Given the description of an element on the screen output the (x, y) to click on. 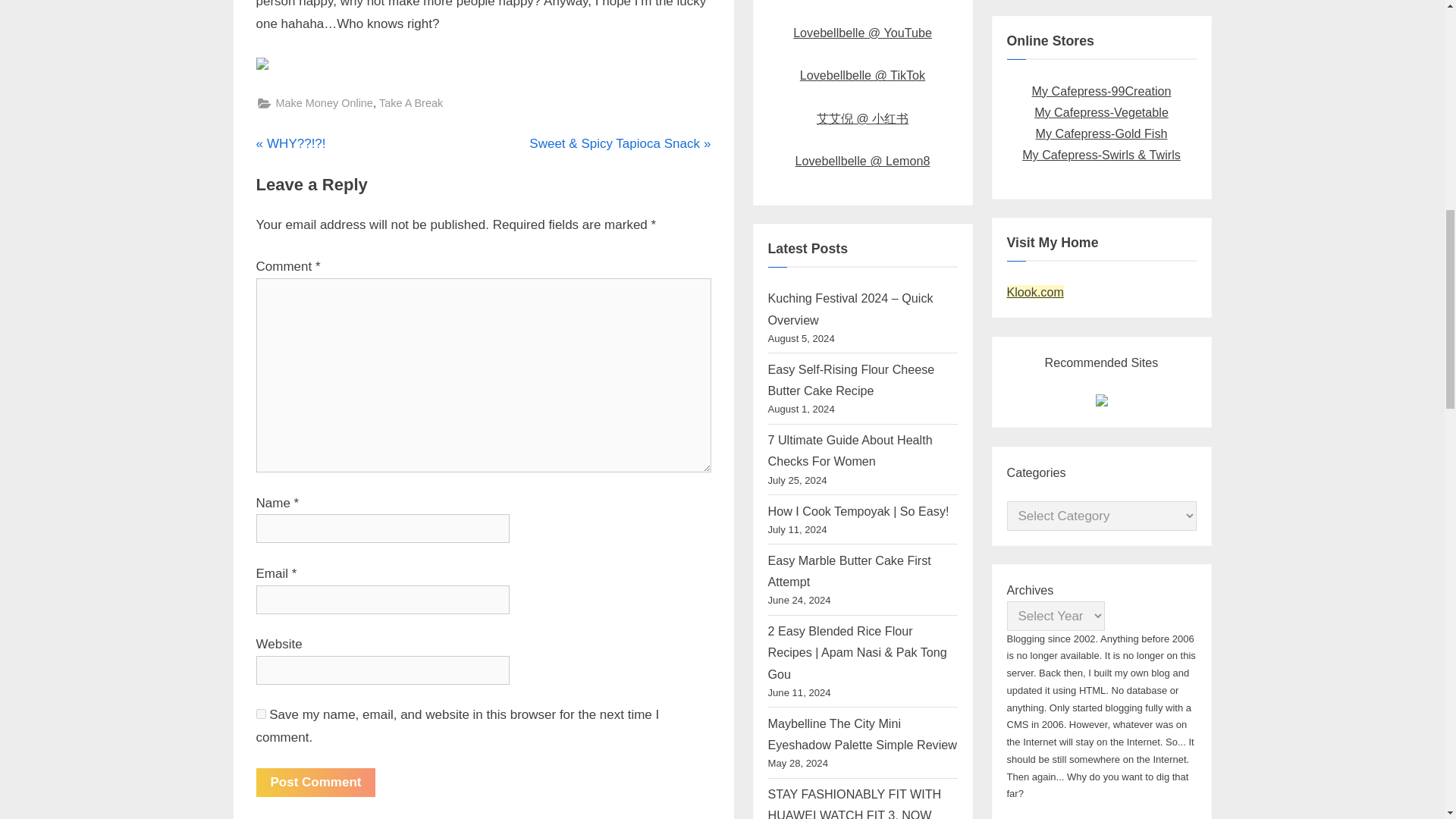
Post Comment (315, 782)
yes (261, 714)
Take A Break (410, 103)
Make Money Online (291, 143)
Post Comment (324, 103)
